Given the description of an element on the screen output the (x, y) to click on. 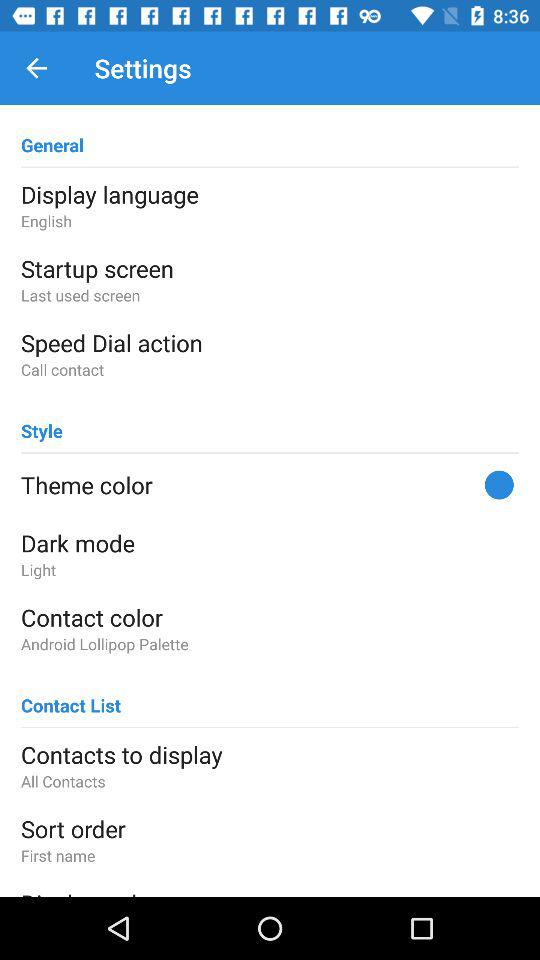
turn on item below sort order icon (270, 855)
